Given the description of an element on the screen output the (x, y) to click on. 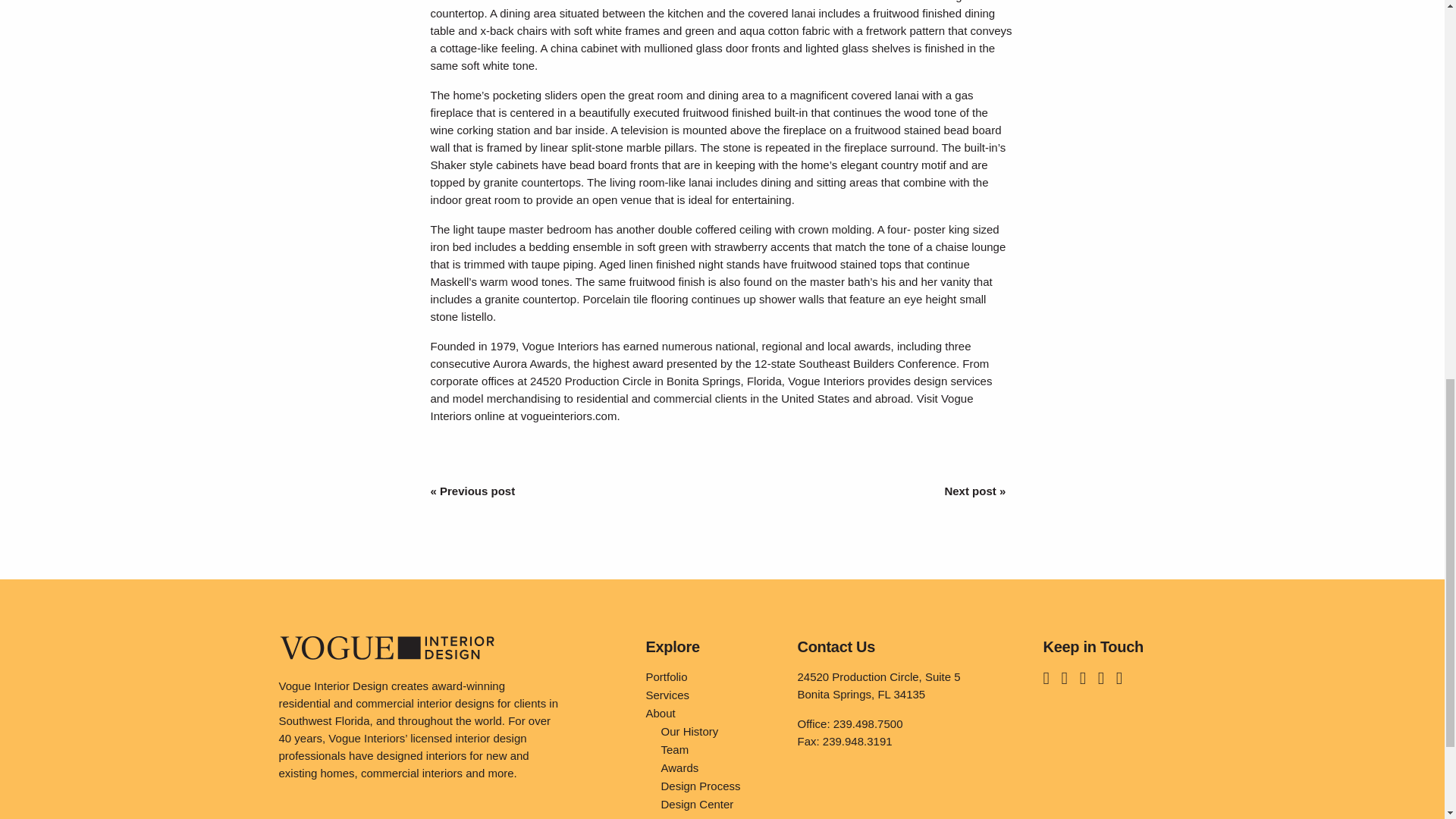
About (709, 713)
Services (709, 695)
Design Process (717, 786)
Portfolio (709, 677)
239.498.7500 (867, 723)
Our History (717, 731)
Team (717, 750)
Awards (717, 768)
Press (709, 816)
Design Center (717, 804)
